Given the description of an element on the screen output the (x, y) to click on. 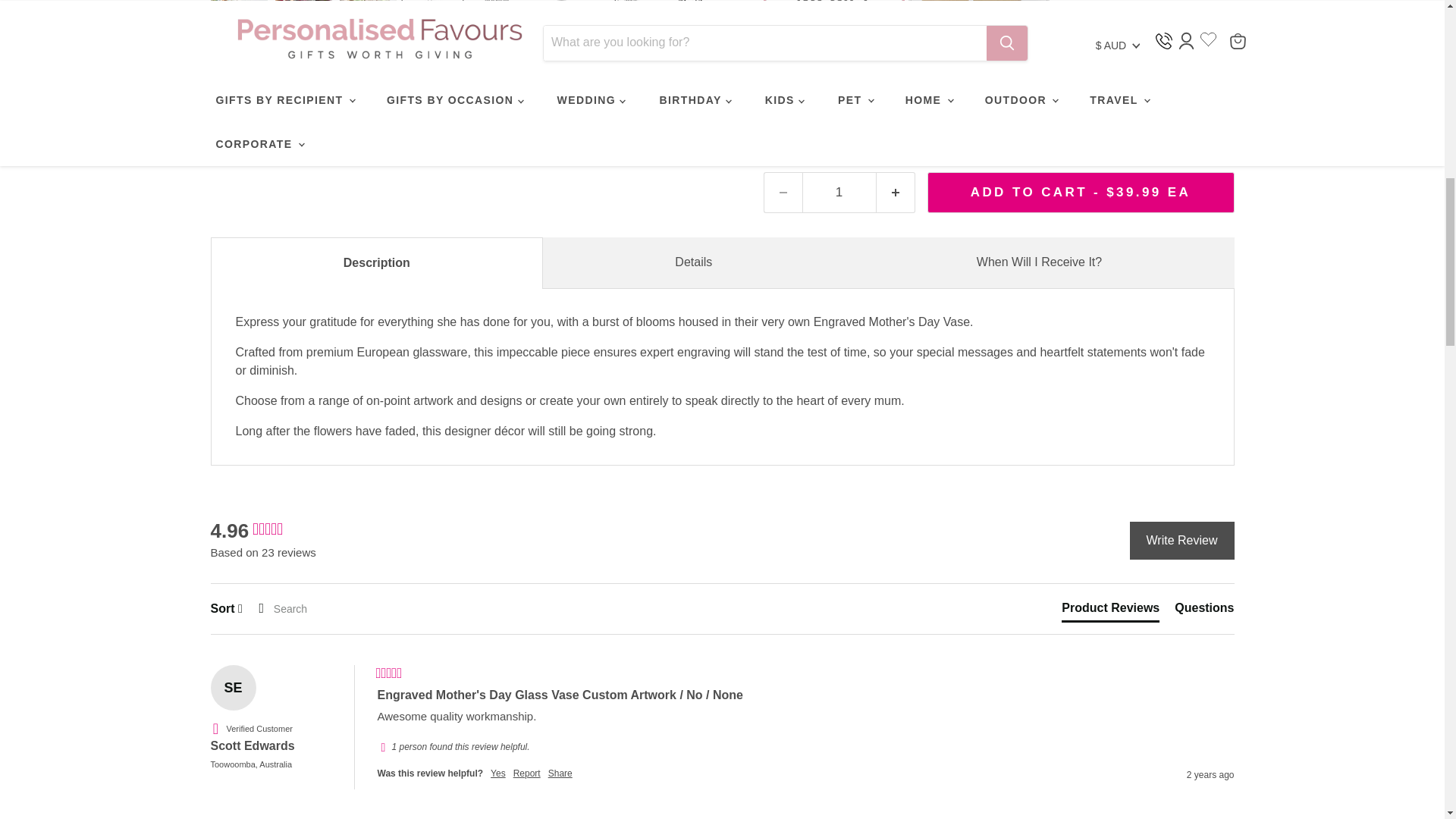
1 (839, 191)
4.96 Stars (266, 529)
5 Stars (389, 674)
Search (310, 608)
